Given the description of an element on the screen output the (x, y) to click on. 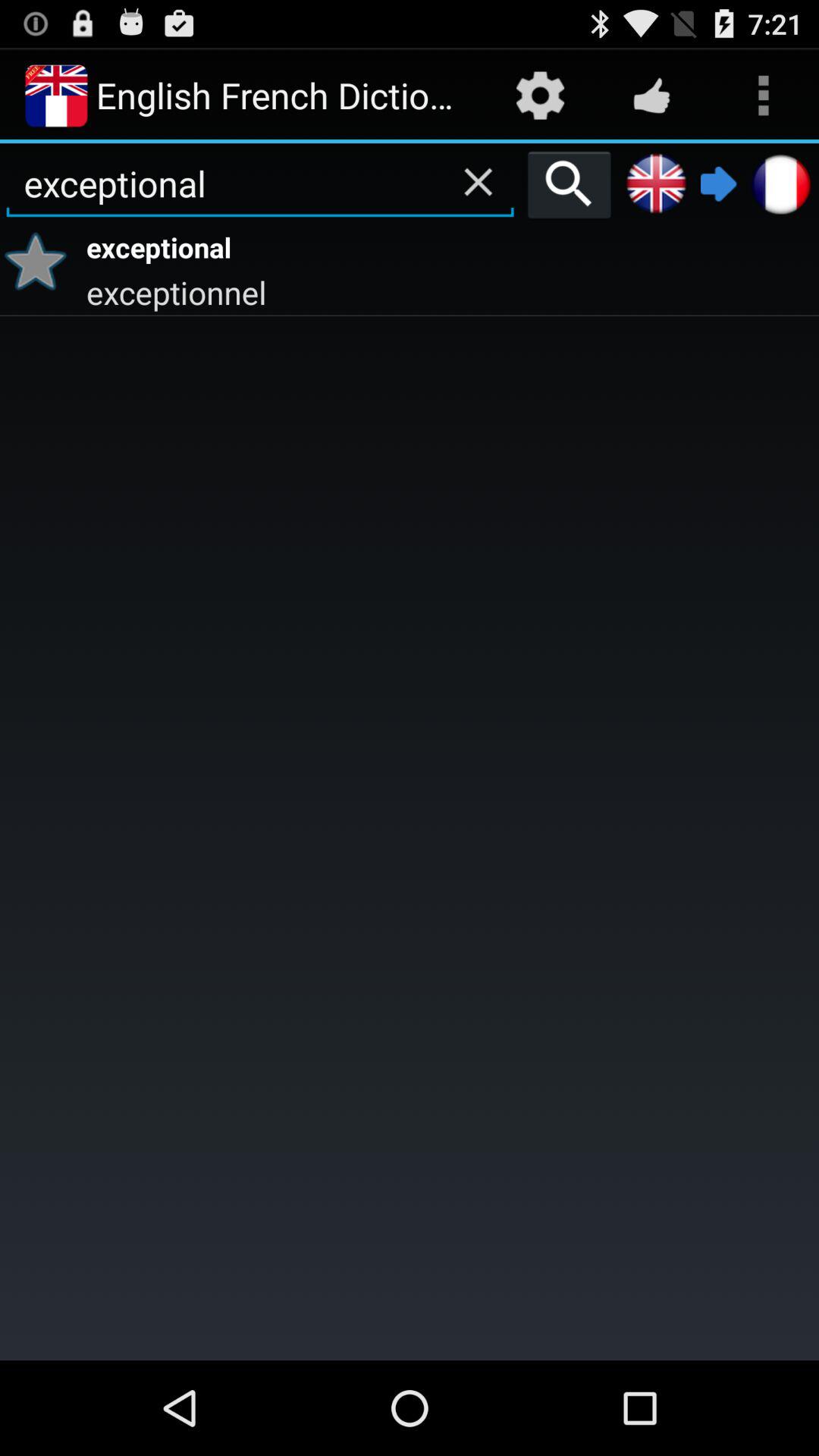
flip until exceptionnel (451, 291)
